Given the description of an element on the screen output the (x, y) to click on. 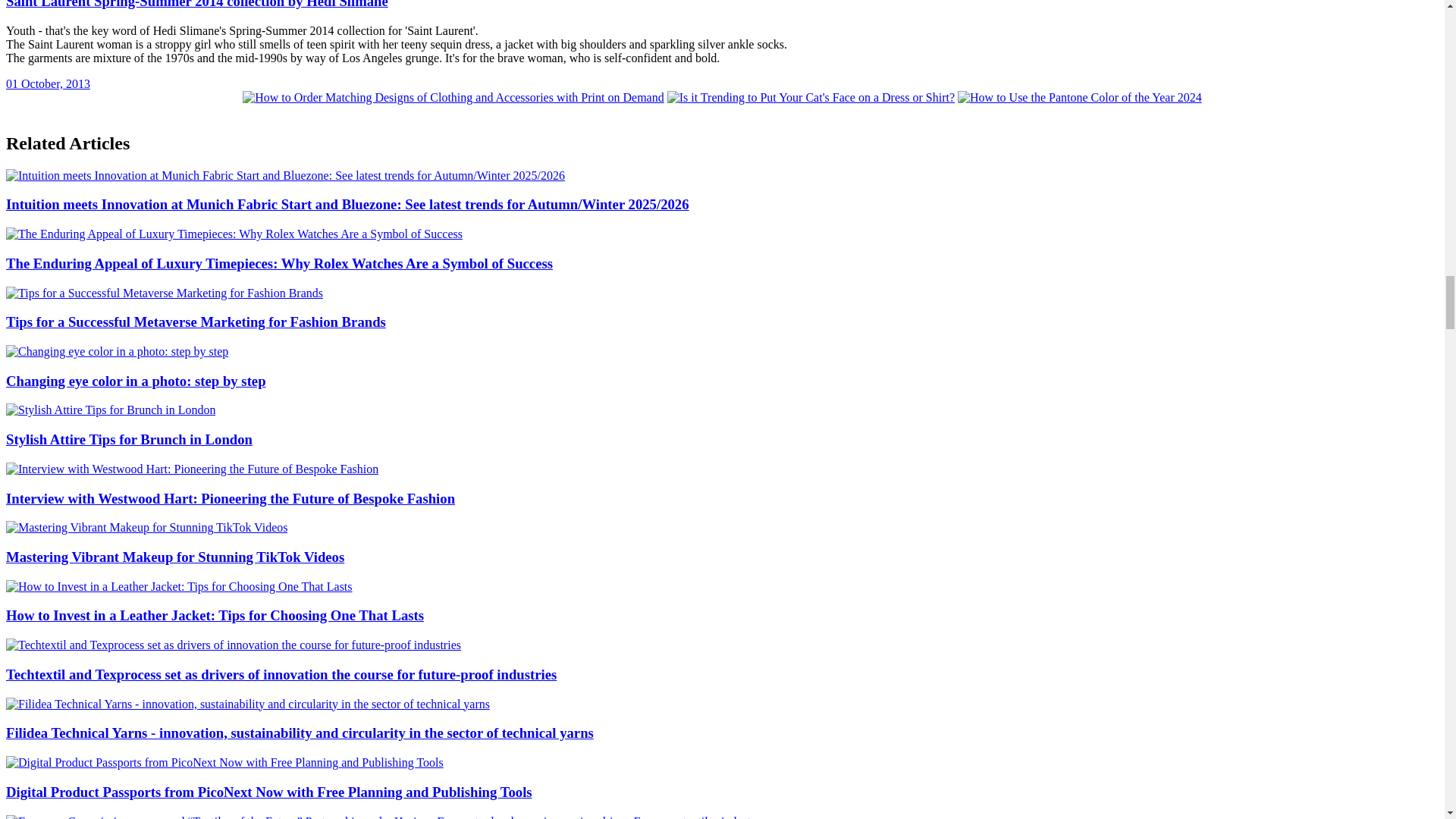
How to Use the Pantone Color of the Year 2024 (1080, 97)
Is it Trending to Put Your Cat's Face on a Dress or Shirt? (810, 97)
